Given the description of an element on the screen output the (x, y) to click on. 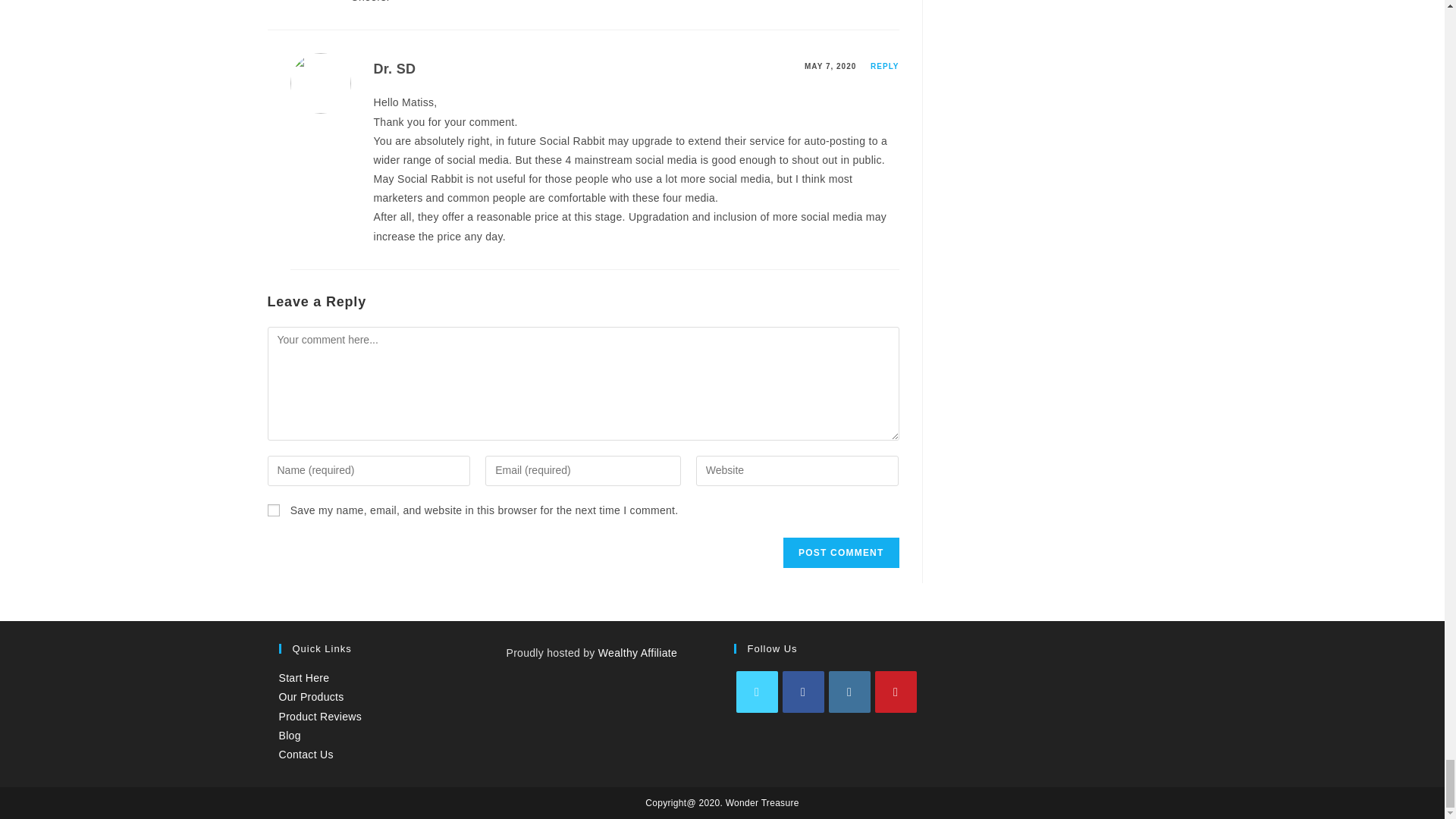
Post Comment (840, 552)
yes (272, 510)
